Given the description of an element on the screen output the (x, y) to click on. 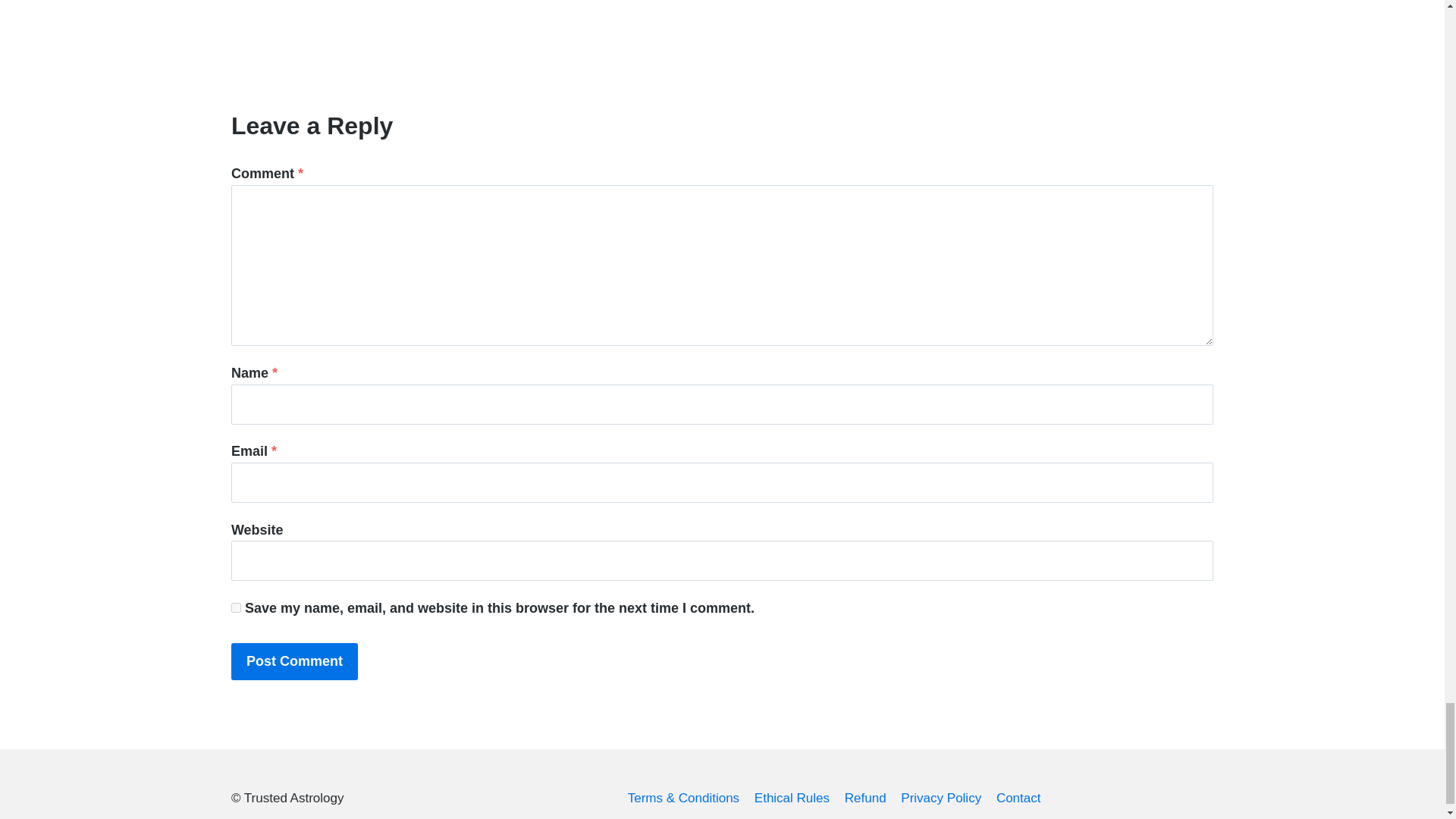
Post Comment (294, 661)
yes (236, 607)
